Given the description of an element on the screen output the (x, y) to click on. 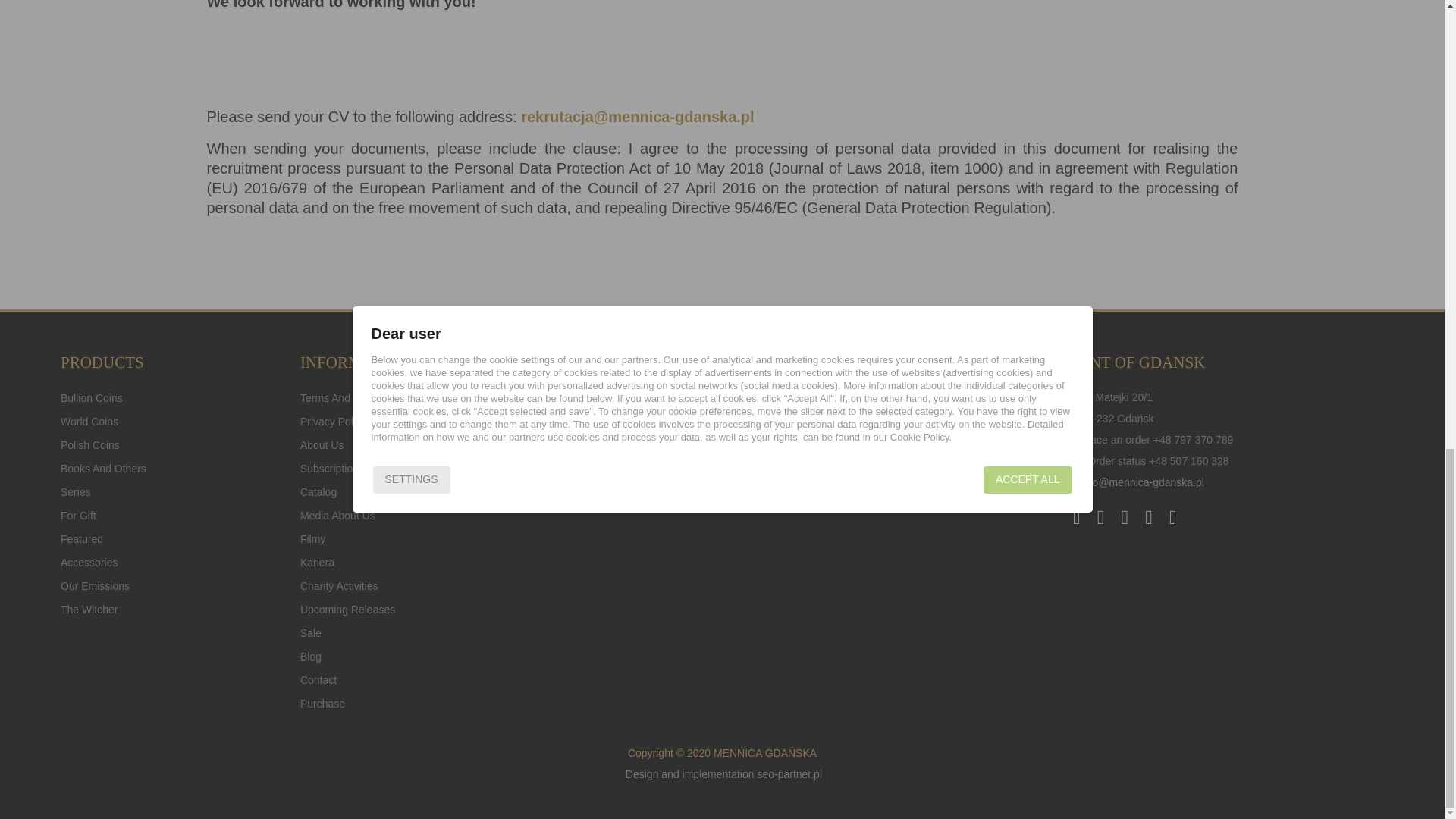
For Gift (78, 515)
Our Emissions (95, 585)
Catalog (317, 491)
World Coins (89, 421)
The Witcher (89, 609)
Featured (82, 538)
Subscription (328, 468)
Books And Others (104, 468)
Series (75, 491)
Terms And Conditions Of Sales (372, 397)
Polish Coins (90, 445)
Privacy Policy (332, 421)
Accessories (89, 562)
Bullion Coins (91, 397)
About Us (321, 445)
